Given the description of an element on the screen output the (x, y) to click on. 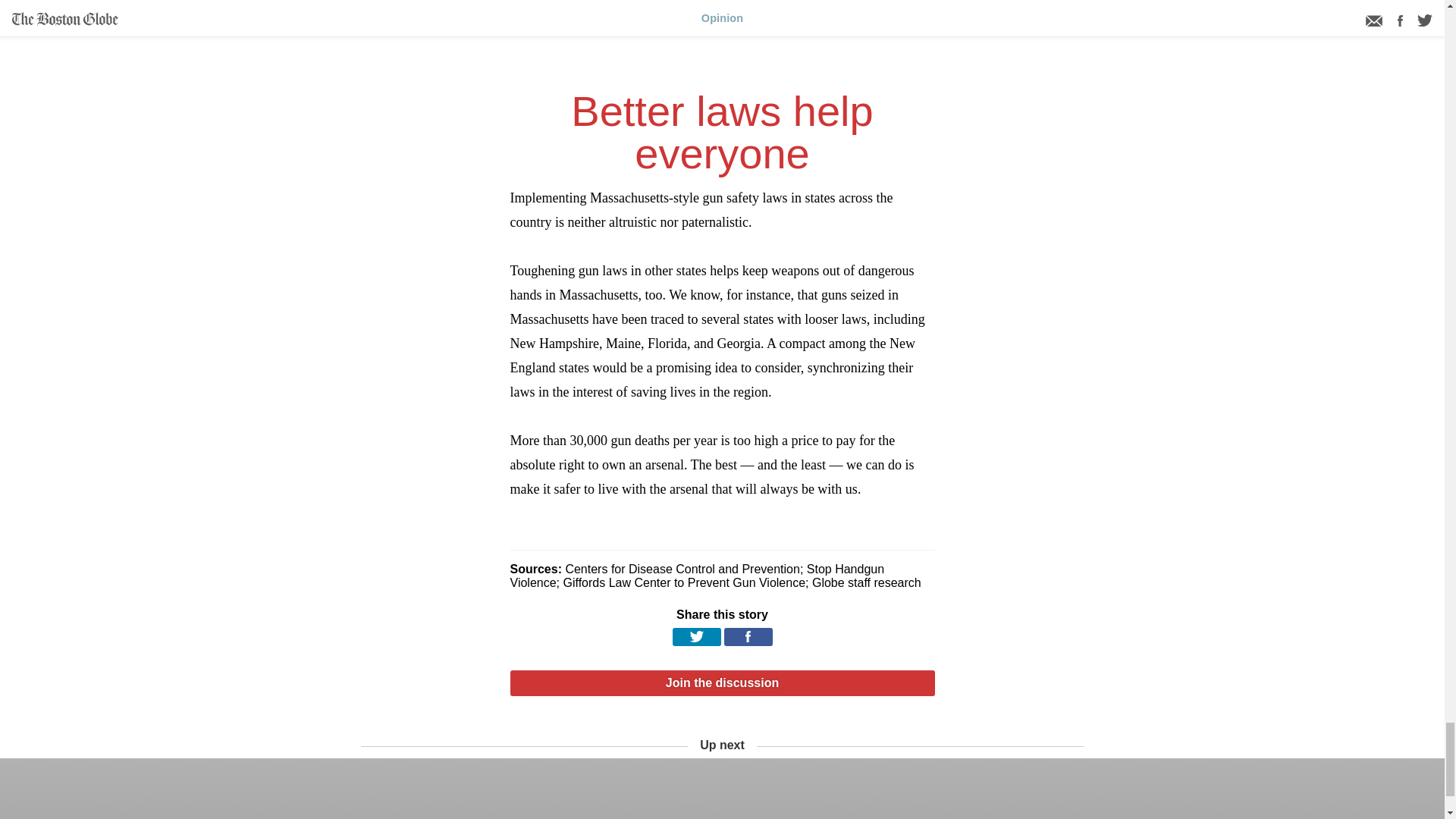
Twitter Logo (695, 636)
Join the discussion (721, 683)
Twitter Logo (695, 637)
Facebook Logo (747, 637)
